Given the description of an element on the screen output the (x, y) to click on. 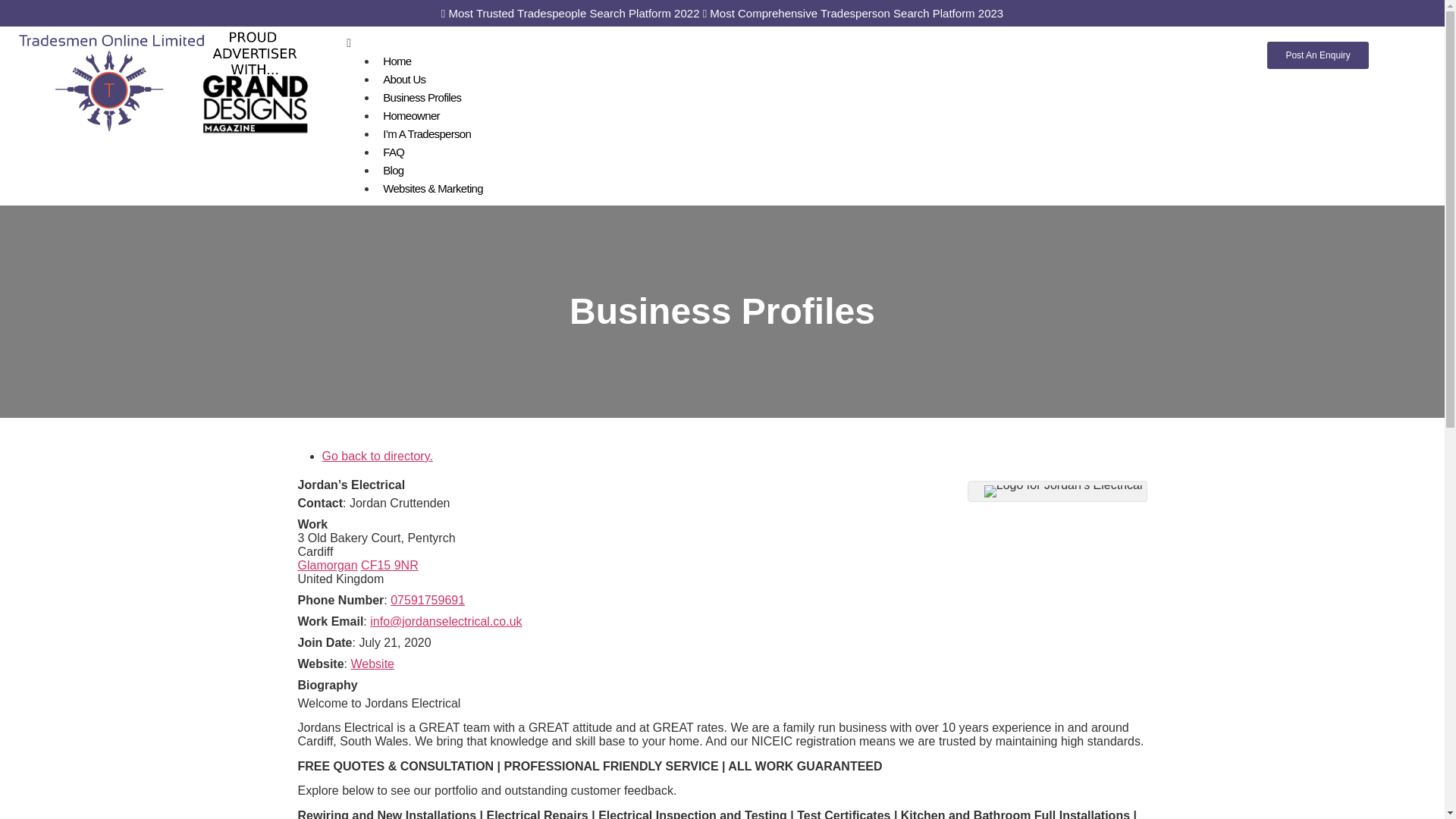
Go back to directory. (376, 455)
About Us (403, 79)
Website (372, 663)
Business Profiles (422, 97)
20200721 (394, 642)
Homeowner (411, 115)
07591759691 (427, 599)
CF15 9NR (390, 564)
Glamorgan (326, 564)
Post An Enquiry (1317, 54)
CF15 9NR (390, 564)
Glamorgan (326, 564)
